Given the description of an element on the screen output the (x, y) to click on. 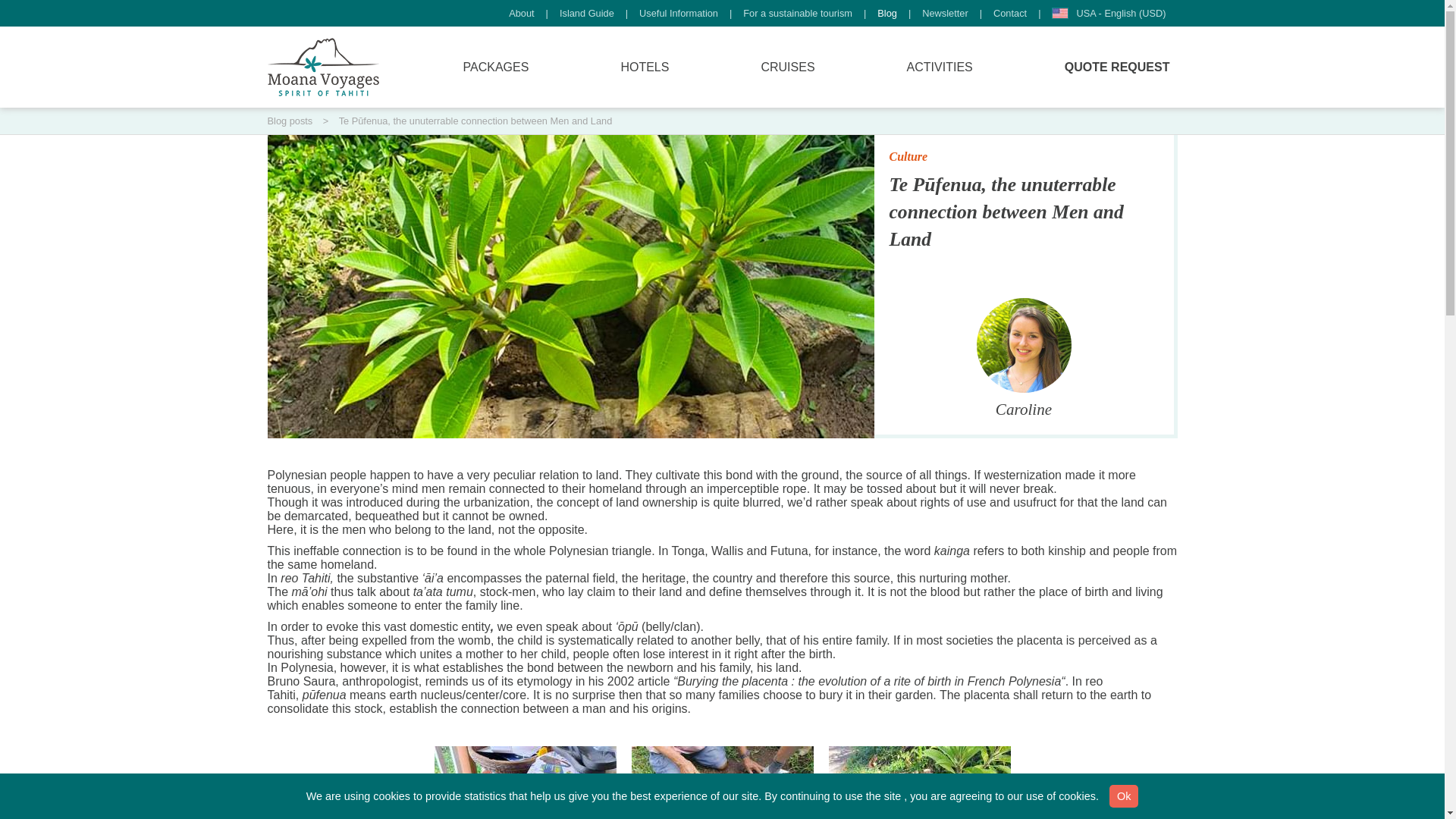
Useful Information (678, 13)
For a sustainable tourism (797, 13)
HOTELS (644, 66)
Island Guide (587, 13)
Newsletter (944, 13)
Blog (887, 13)
Contact (1009, 13)
PACKAGES (496, 66)
About (520, 13)
